Given the description of an element on the screen output the (x, y) to click on. 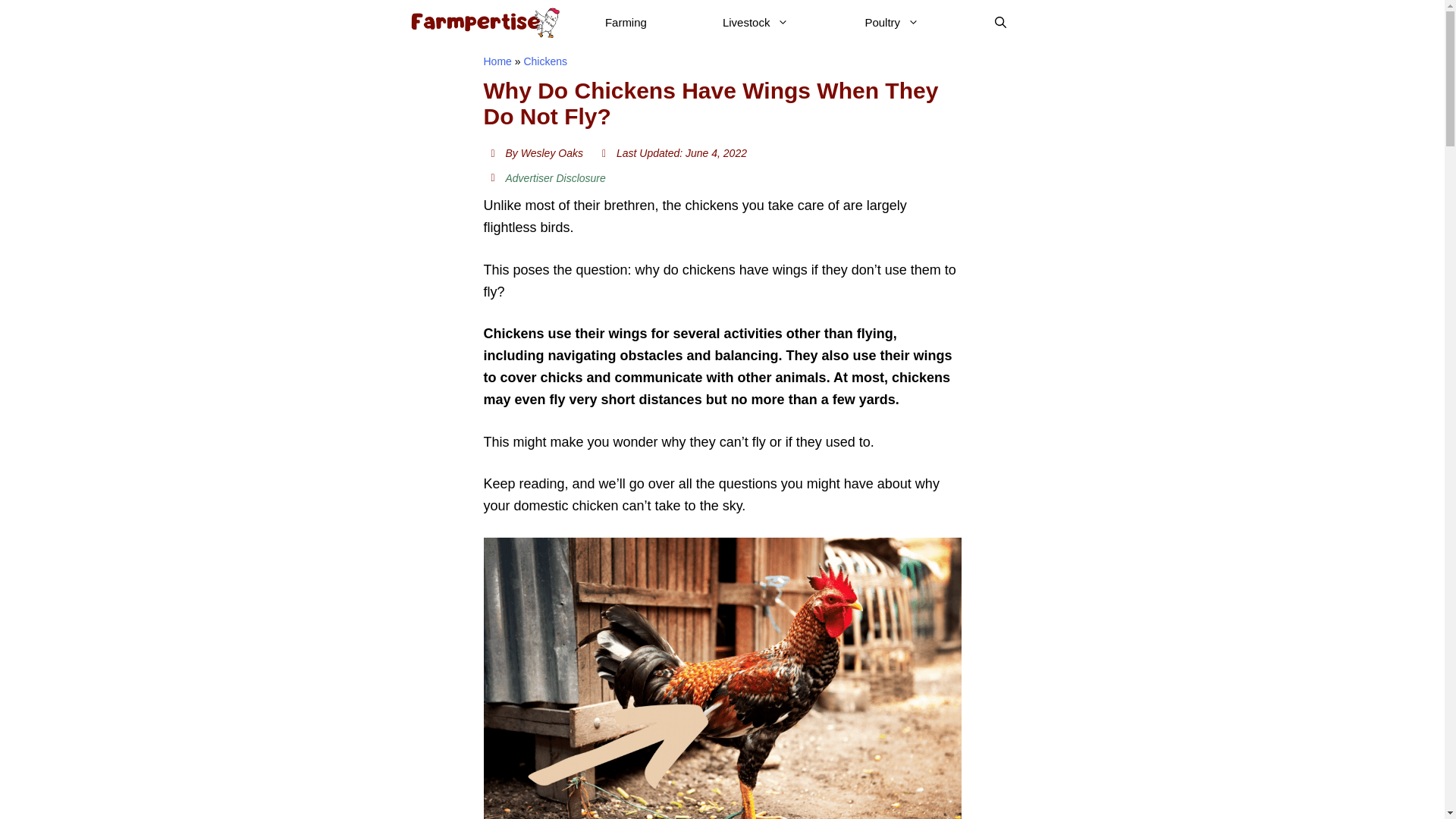
Chickens (544, 61)
Farming (625, 22)
Livestock (755, 22)
Home (497, 61)
Farmpertise (483, 22)
Poultry (891, 22)
